Given the description of an element on the screen output the (x, y) to click on. 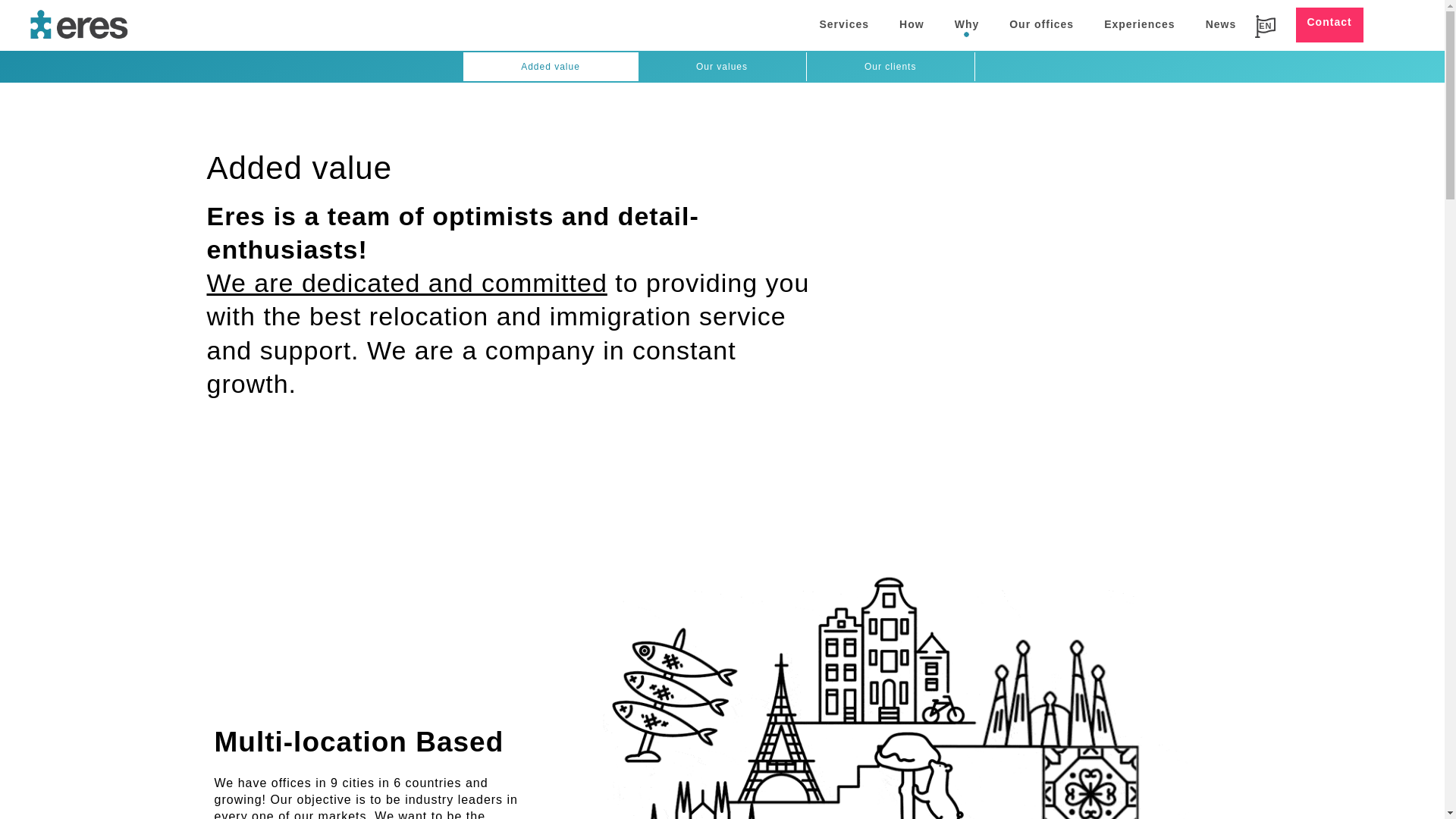
Contact (1328, 24)
How (911, 24)
Our offices (1041, 24)
Why (966, 24)
Experiences (1140, 24)
Services (843, 24)
News (1221, 24)
